Given the description of an element on the screen output the (x, y) to click on. 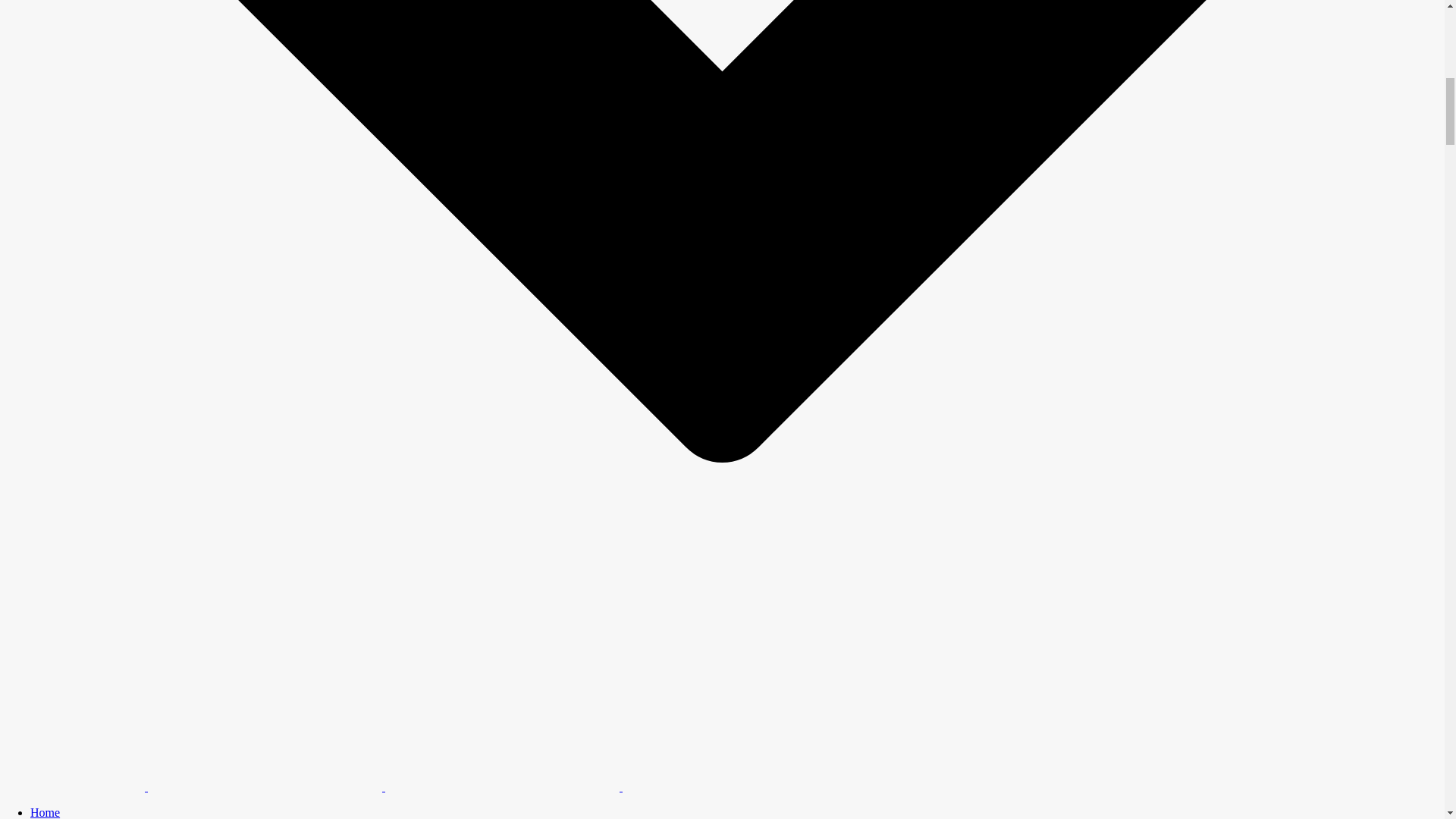
Limo Services Charlotte NC (72, 718)
Limo Services Charlotte NC (264, 752)
Limo Services Charlotte NC (502, 752)
Limo Services Charlotte NC (740, 752)
Home (44, 812)
Ballantyne Limousine (428, 786)
Home (44, 812)
